Given the description of an element on the screen output the (x, y) to click on. 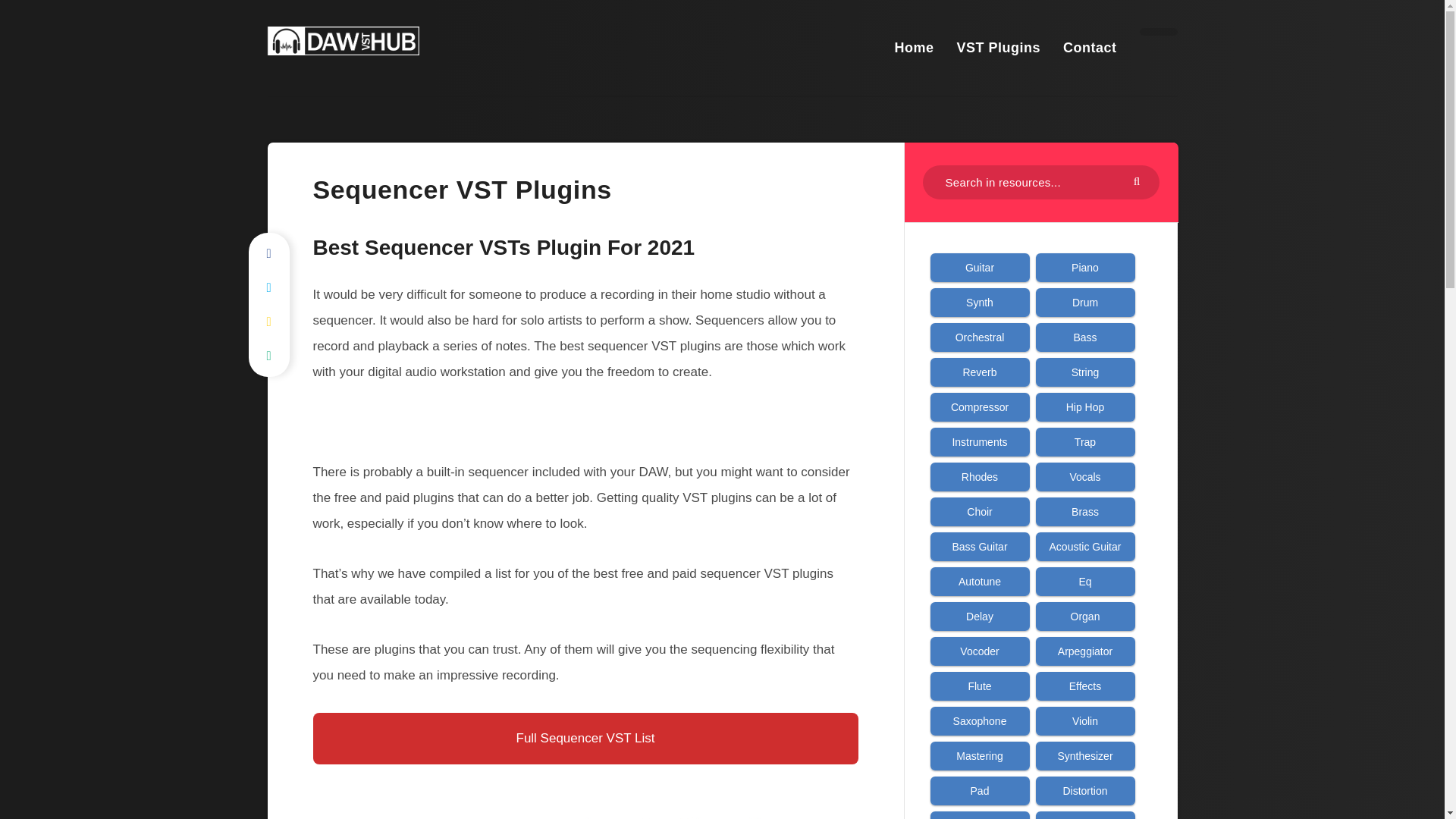
Best Rhodes VST List (979, 476)
Orchestral (979, 337)
Best Orchestral VST List (979, 337)
Best Choir VST List (979, 511)
String (1085, 371)
Reverb (979, 371)
Best Hip Hop VST List (1085, 406)
Best Compressor VST List (979, 406)
Best Piano VST List (1085, 267)
Compressor (979, 406)
Full Sequencer VST List (585, 738)
Piano (1085, 267)
Guitar (979, 267)
Best Bass VST List (1085, 337)
Best String VST List (1085, 371)
